Given the description of an element on the screen output the (x, y) to click on. 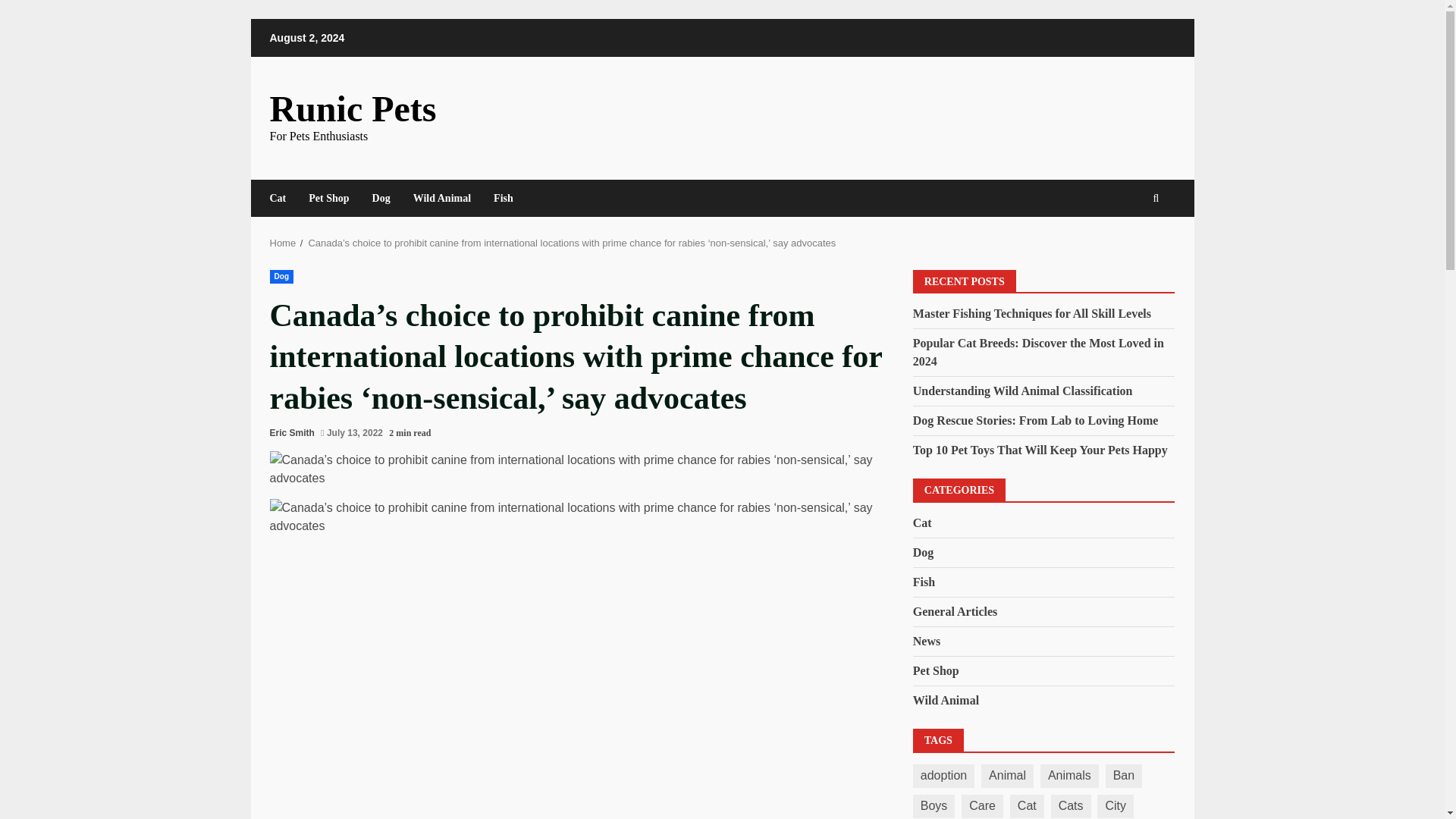
Pet Shop (935, 670)
Cat (921, 523)
Dog (281, 276)
Fish (923, 582)
Understanding Wild Animal Classification (1022, 390)
Dog (381, 198)
Wild Animal (945, 700)
Top 10 Pet Toys That Will Keep Your Pets Happy (1039, 449)
adoption (943, 775)
Runic Pets (352, 108)
